Given the description of an element on the screen output the (x, y) to click on. 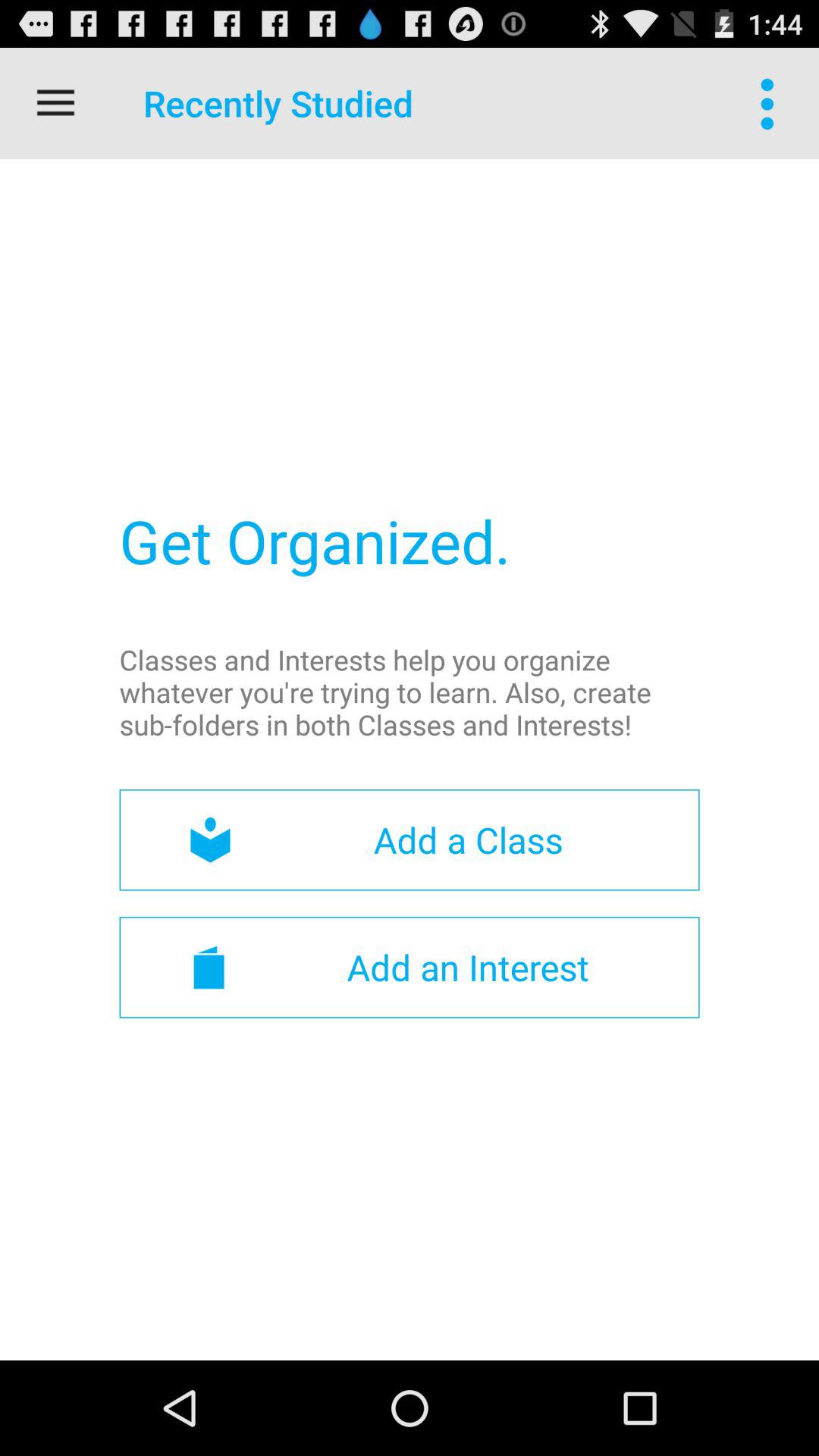
turn on icon at the top right corner (771, 103)
